Given the description of an element on the screen output the (x, y) to click on. 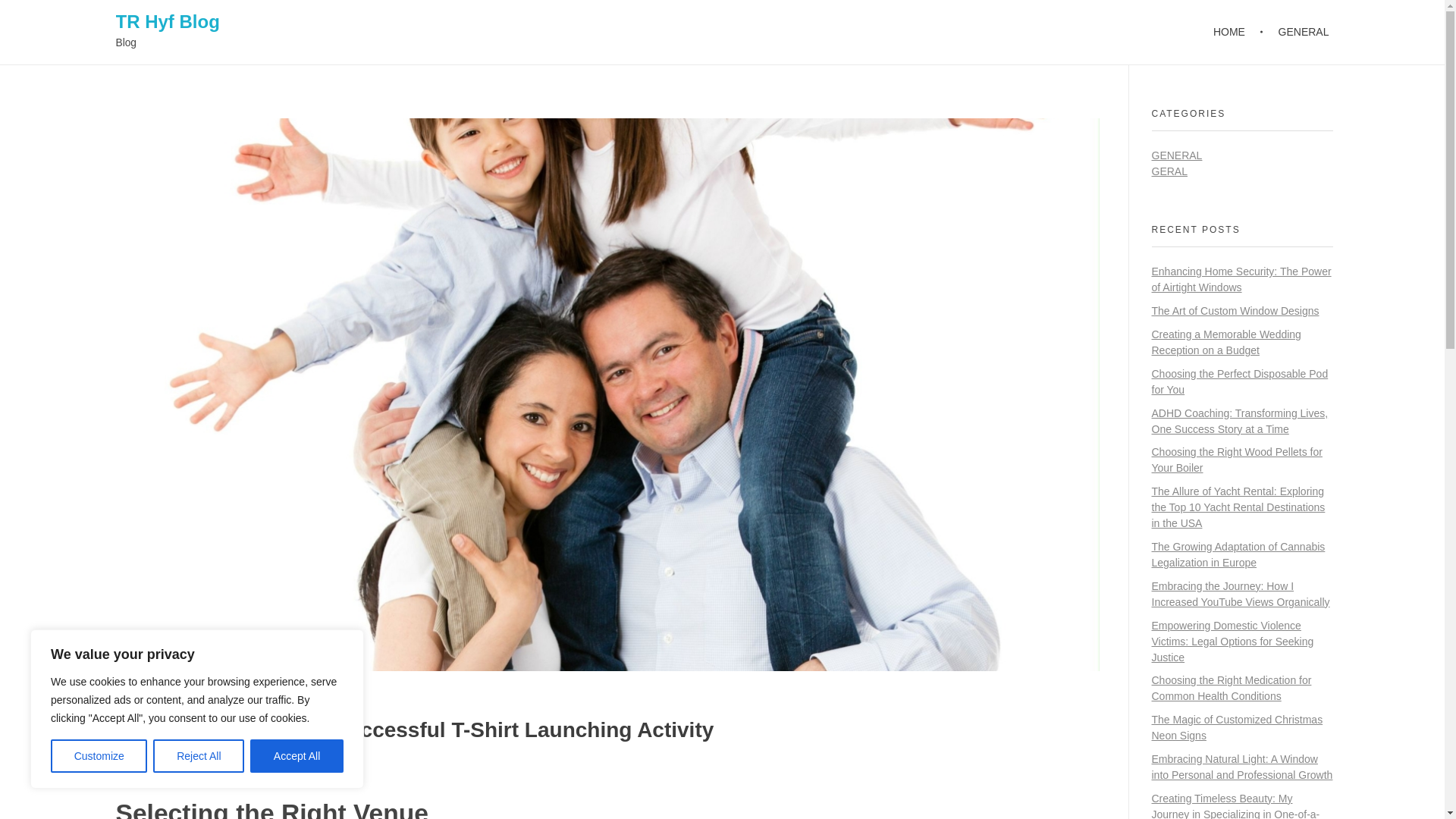
General (276, 770)
GENERAL (1295, 32)
View all posts in General (276, 770)
Accept All (296, 756)
Choosing the Right Wood Pellets for Your Boiler (1236, 459)
Customize (98, 756)
Reject All (198, 756)
GERAL (1168, 171)
The Growing Adaptation of Cannabis Legalization in Europe (1237, 554)
TR Hyf Blog (167, 21)
Choosing the Perfect Disposable Pod for You (1239, 381)
The Art of Custom Window Designs (1235, 310)
GENERAL (1176, 155)
Creating a Memorable Wedding Reception on a Budget (1225, 342)
Enhancing Home Security: The Power of Airtight Windows (1240, 279)
